Given the description of an element on the screen output the (x, y) to click on. 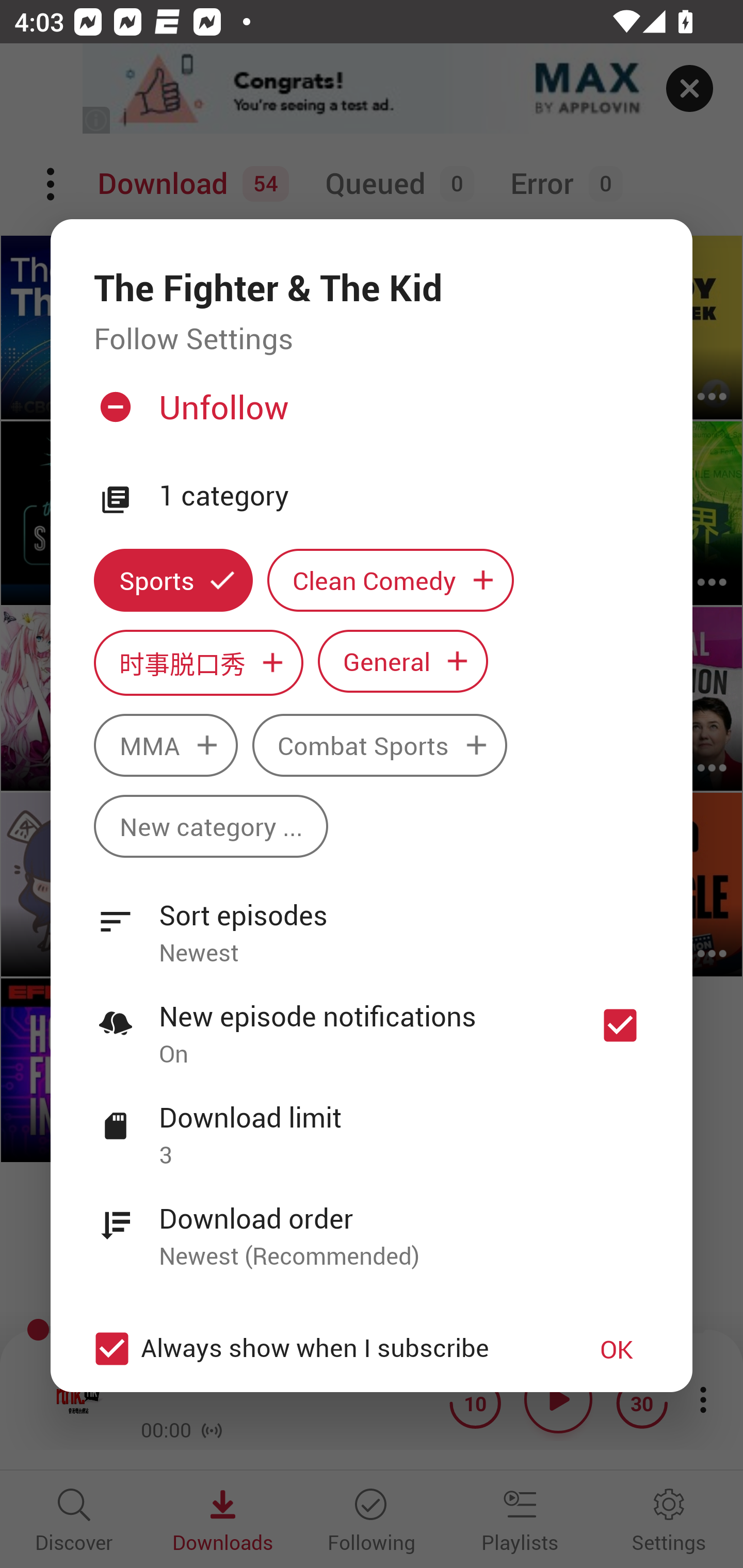
Unfollow (369, 415)
1 category (404, 495)
Sports (172, 579)
Clean Comedy (390, 579)
时事脱口秀 (198, 663)
General (403, 661)
MMA (165, 744)
Combat Sports (379, 744)
New category ... (210, 825)
Sort episodes Newest (371, 922)
New episode notifications (620, 1025)
Download limit 3 (371, 1125)
Download order Newest (Recommended) (371, 1226)
OK (616, 1349)
Always show when I subscribe (320, 1349)
